Given the description of an element on the screen output the (x, y) to click on. 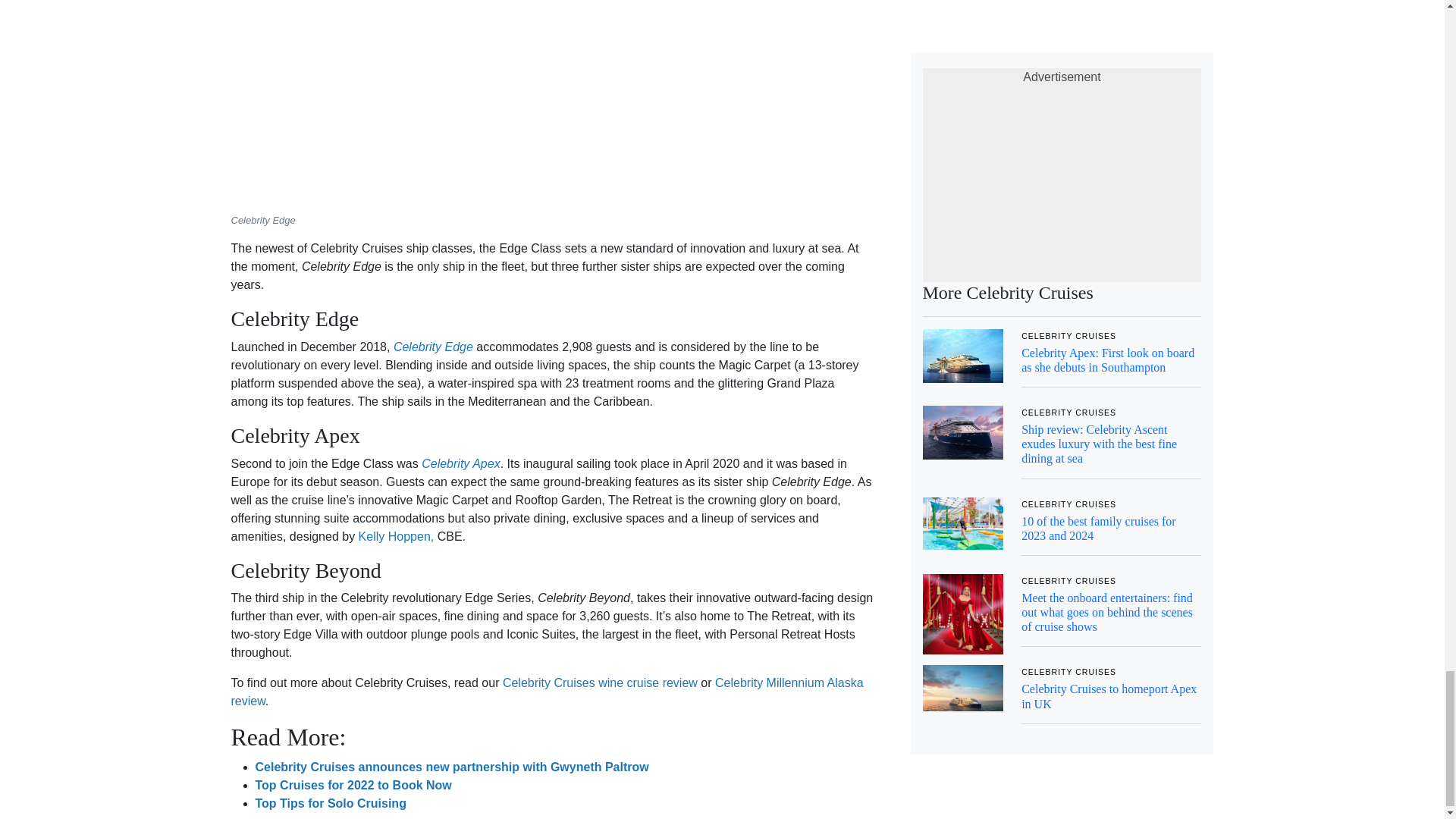
Kelly Hoppen, (395, 535)
Celebrity Cruises wine cruise review (599, 682)
Celebrity Edge (433, 346)
Celebrity Apex (460, 463)
